Given the description of an element on the screen output the (x, y) to click on. 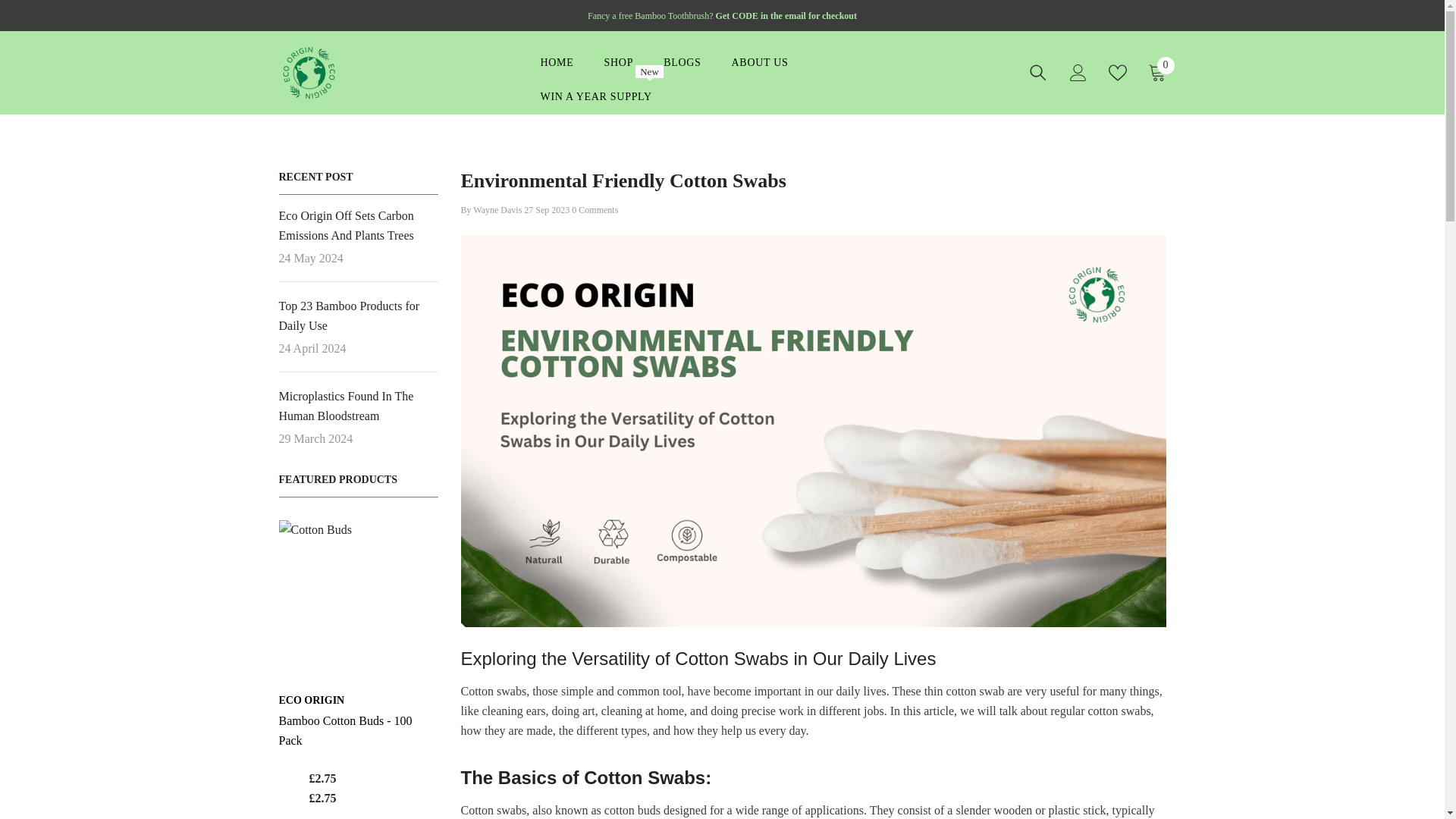
Eco Origin (312, 699)
Bamboo Cotton Buds - 100 Pack (595, 97)
SHOP (358, 599)
HOME (619, 62)
BLOGS (556, 62)
ABOUT US (1157, 72)
